Given the description of an element on the screen output the (x, y) to click on. 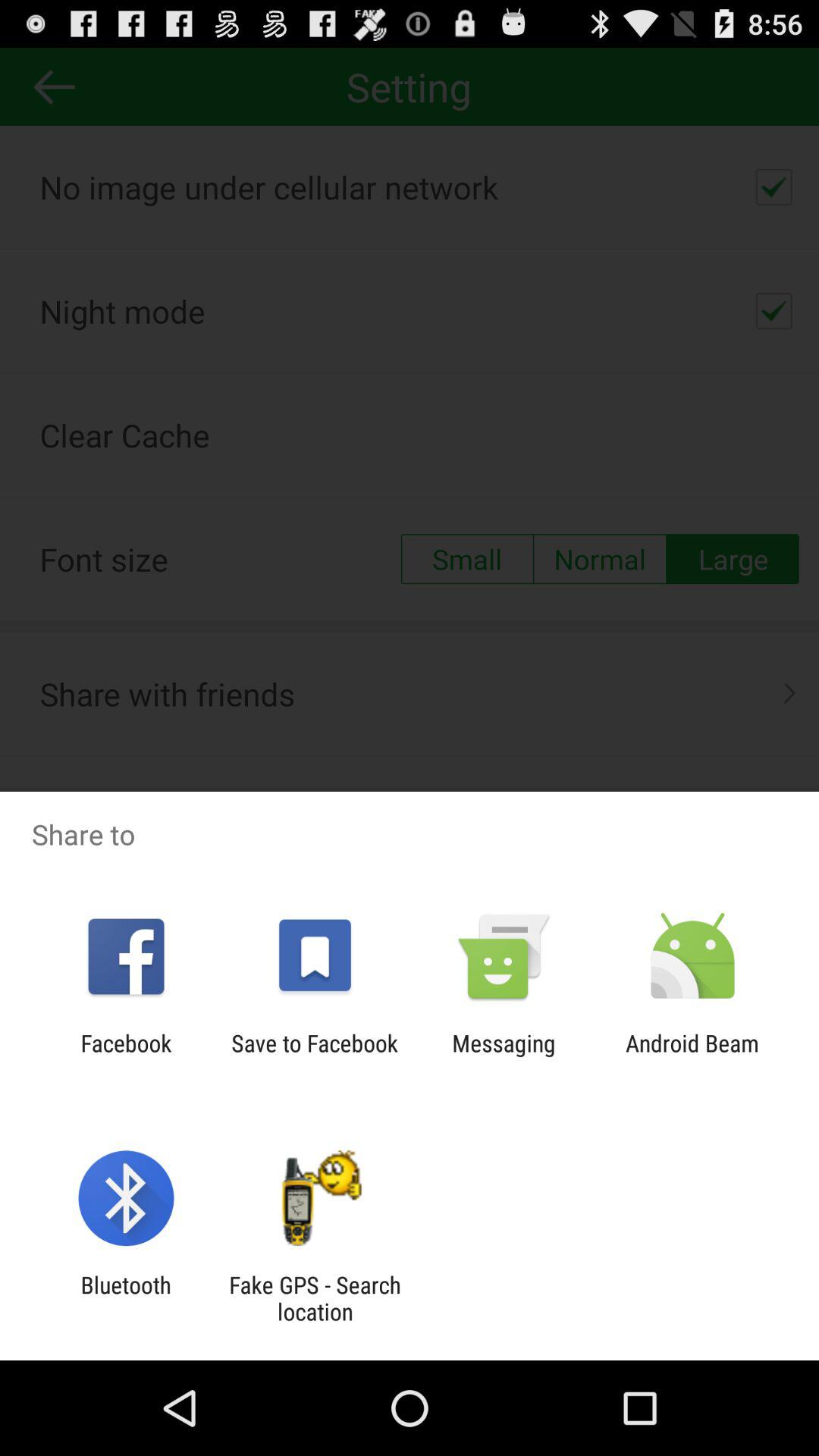
choose app to the right of facebook item (314, 1056)
